Given the description of an element on the screen output the (x, y) to click on. 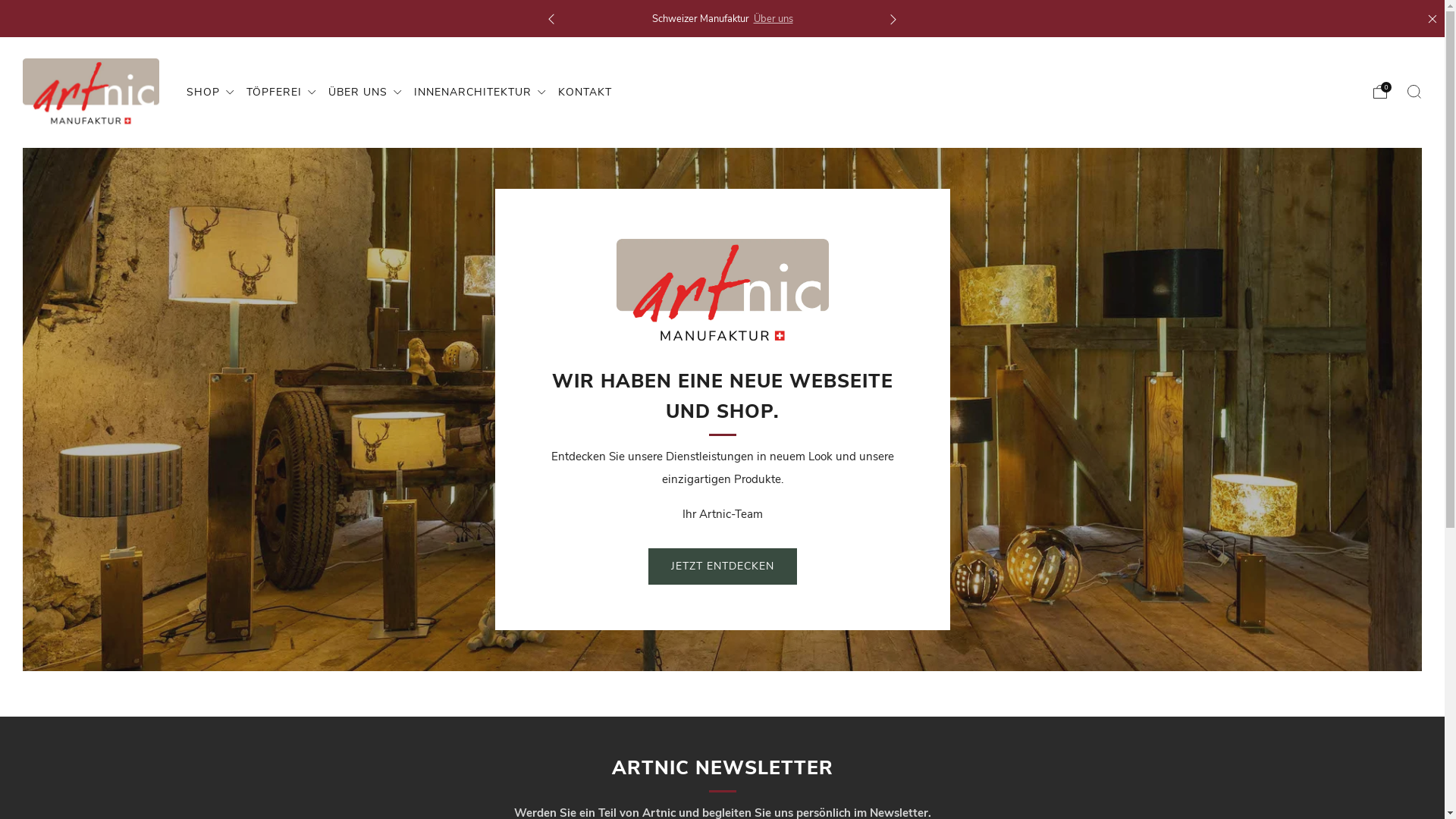
KONTAKT Element type: text (584, 92)
SHOP Element type: text (210, 92)
JETZT ENTDECKEN Element type: text (721, 566)
Neues Atelier und Showroom Element type: text (765, 18)
INNENARCHITEKTUR Element type: text (480, 92)
0 Element type: text (1379, 90)
